Given the description of an element on the screen output the (x, y) to click on. 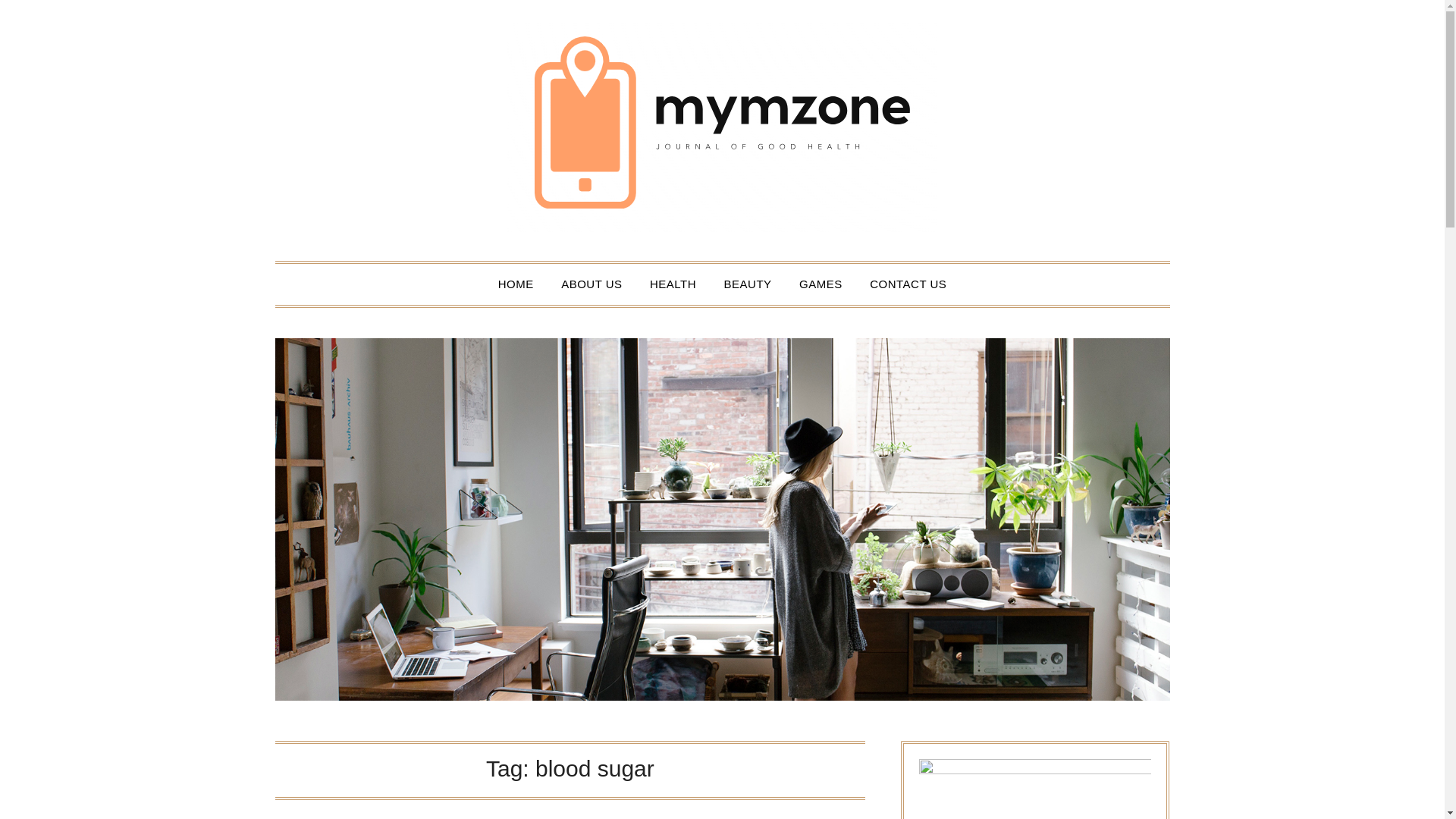
BEAUTY (747, 283)
ABOUT US (590, 283)
HEALTH (672, 283)
HOME (516, 283)
CONTACT US (907, 283)
GAMES (820, 283)
